Given the description of an element on the screen output the (x, y) to click on. 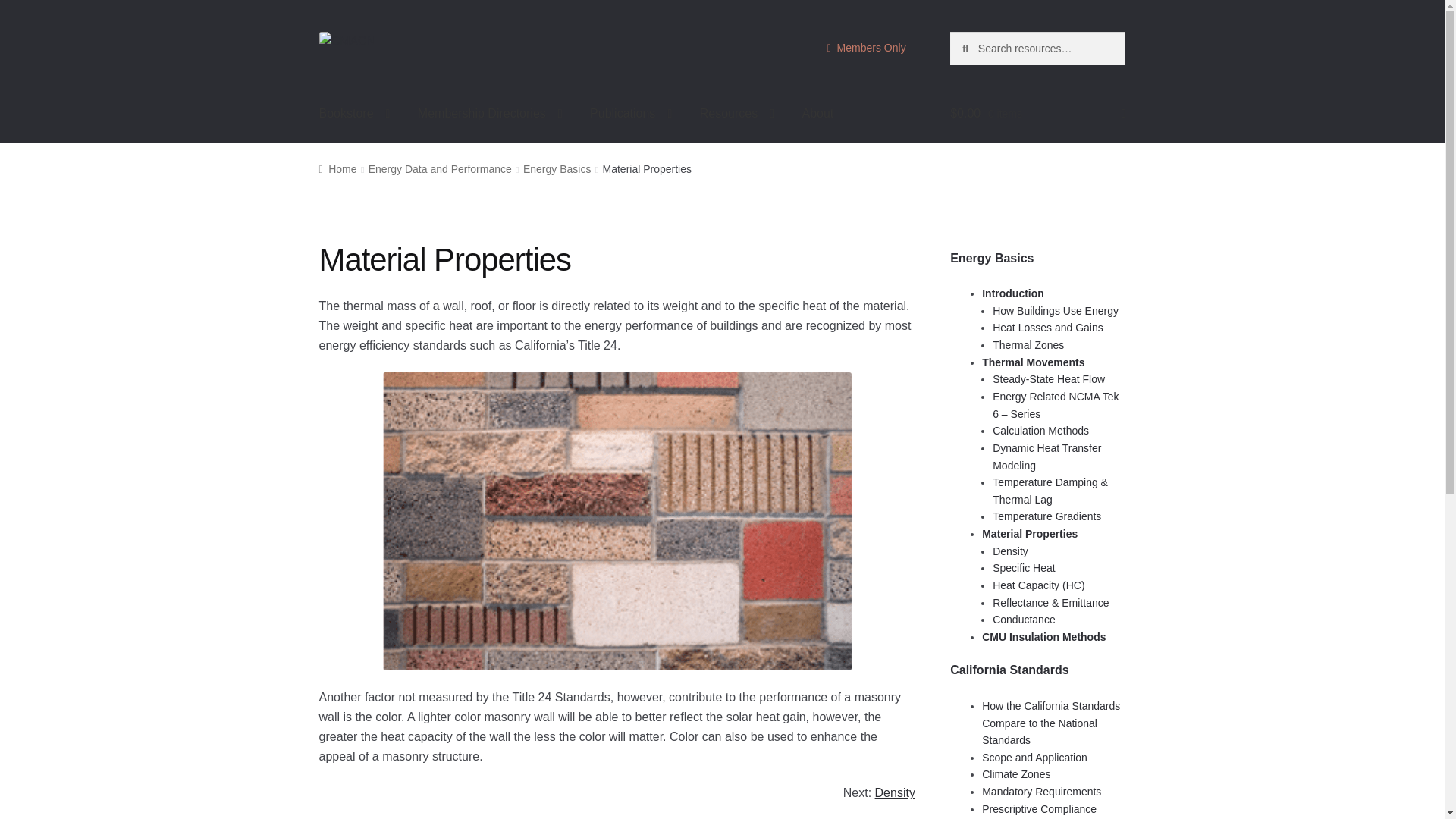
Membership Directories (490, 113)
Bookstore (355, 113)
Resources (736, 113)
About (817, 113)
View your shopping cart (1037, 113)
Publications (631, 113)
  Members Only (865, 47)
